Given the description of an element on the screen output the (x, y) to click on. 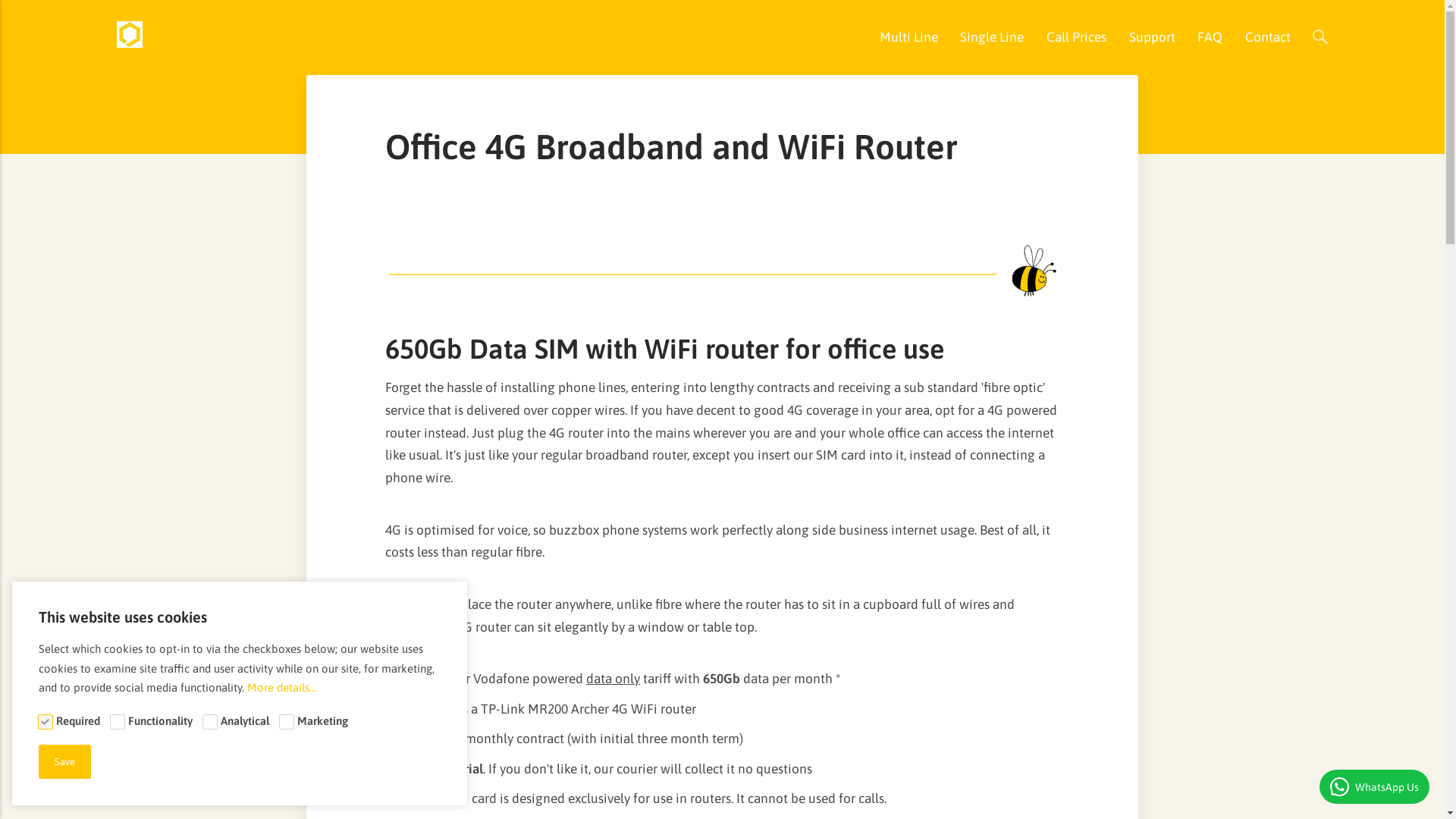
Support Element type: text (1151, 37)
FAQ Element type: text (1209, 37)
More details... Element type: text (281, 686)
Call Prices Element type: text (1076, 37)
Save Element type: text (64, 761)
